Given the description of an element on the screen output the (x, y) to click on. 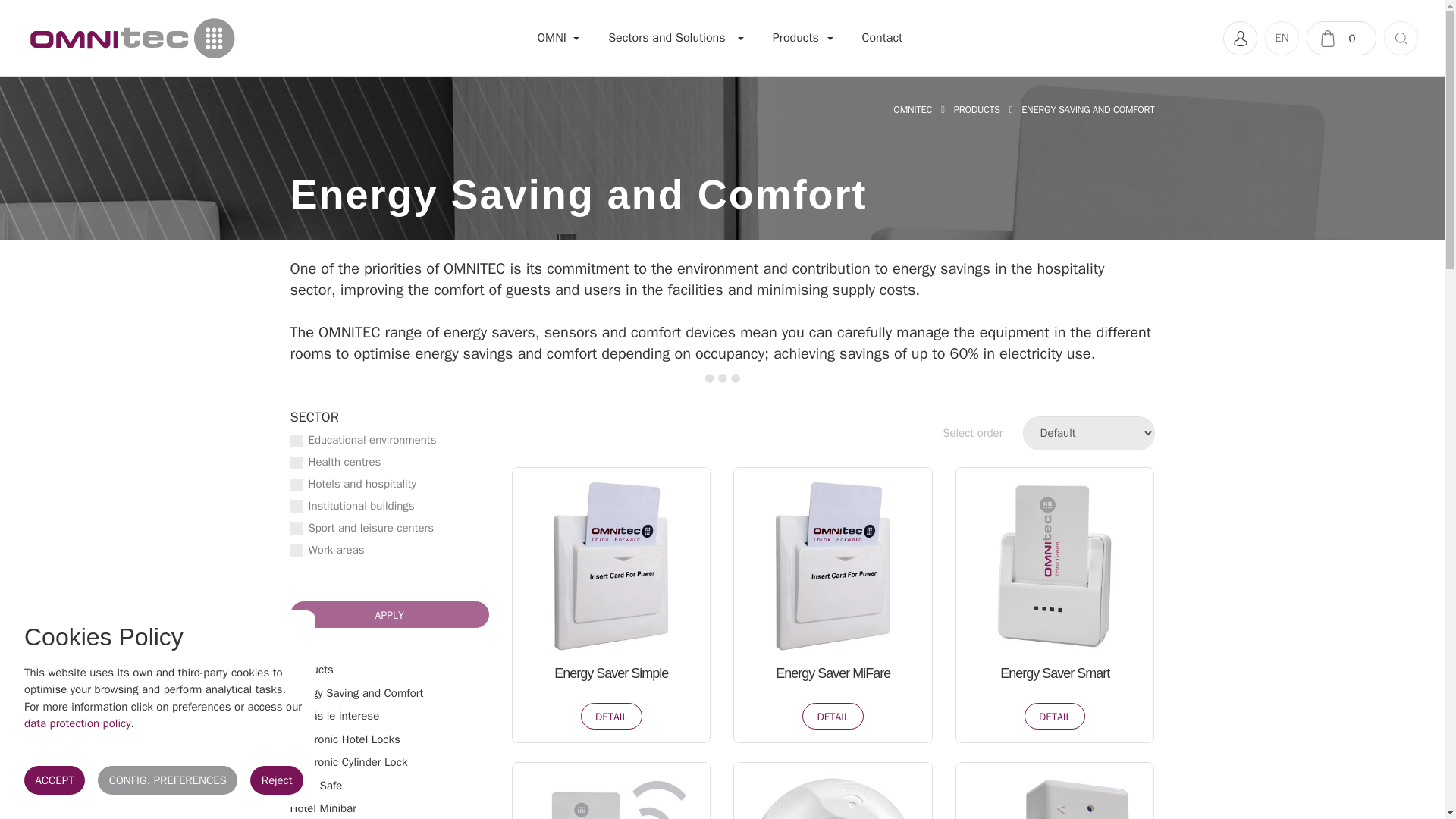
Sectors and Solutions (671, 38)
Apply (389, 614)
OMNITEC (912, 110)
EN (1281, 38)
